Given the description of an element on the screen output the (x, y) to click on. 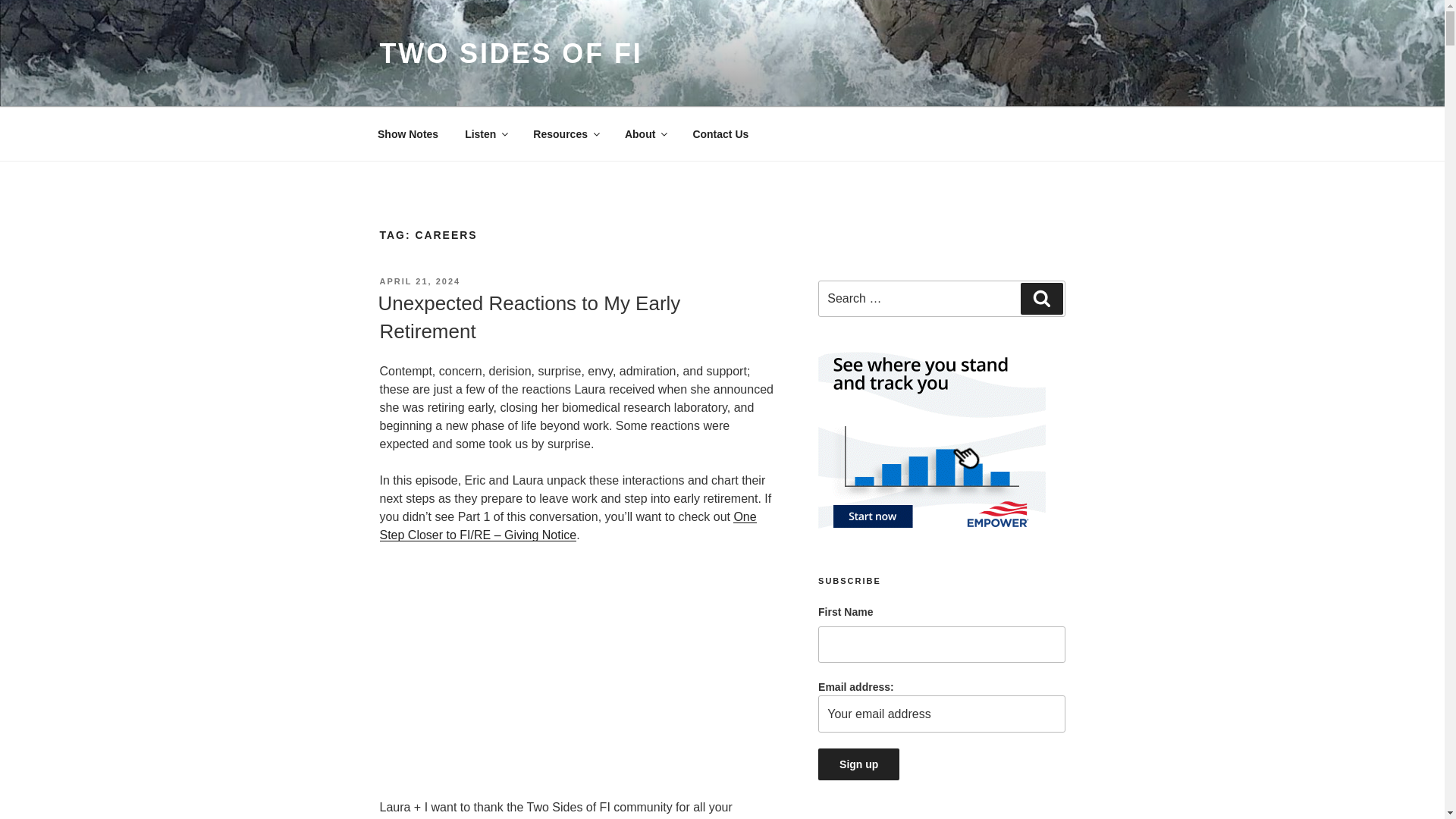
TWO SIDES OF FI (510, 52)
Sign up (858, 764)
APRIL 21, 2024 (419, 280)
Show Notes (407, 133)
Contact Us (720, 133)
Unexpected Reactions to My Early Retirement (528, 316)
Unexpected Reactions to My Early Retirement (577, 674)
About (644, 133)
Listen (485, 133)
Resources (565, 133)
